Given the description of an element on the screen output the (x, y) to click on. 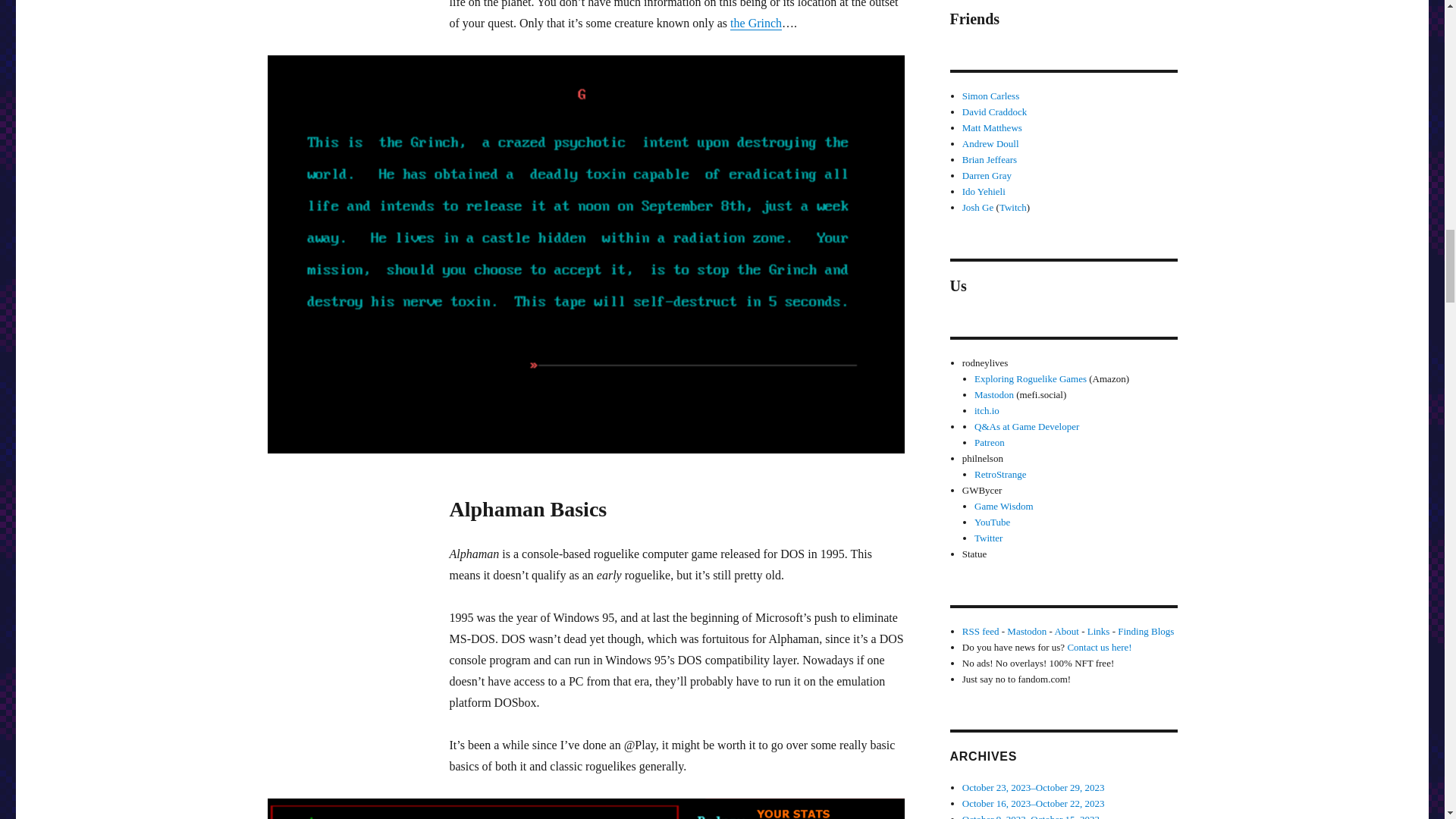
the Grinch (755, 22)
